Given the description of an element on the screen output the (x, y) to click on. 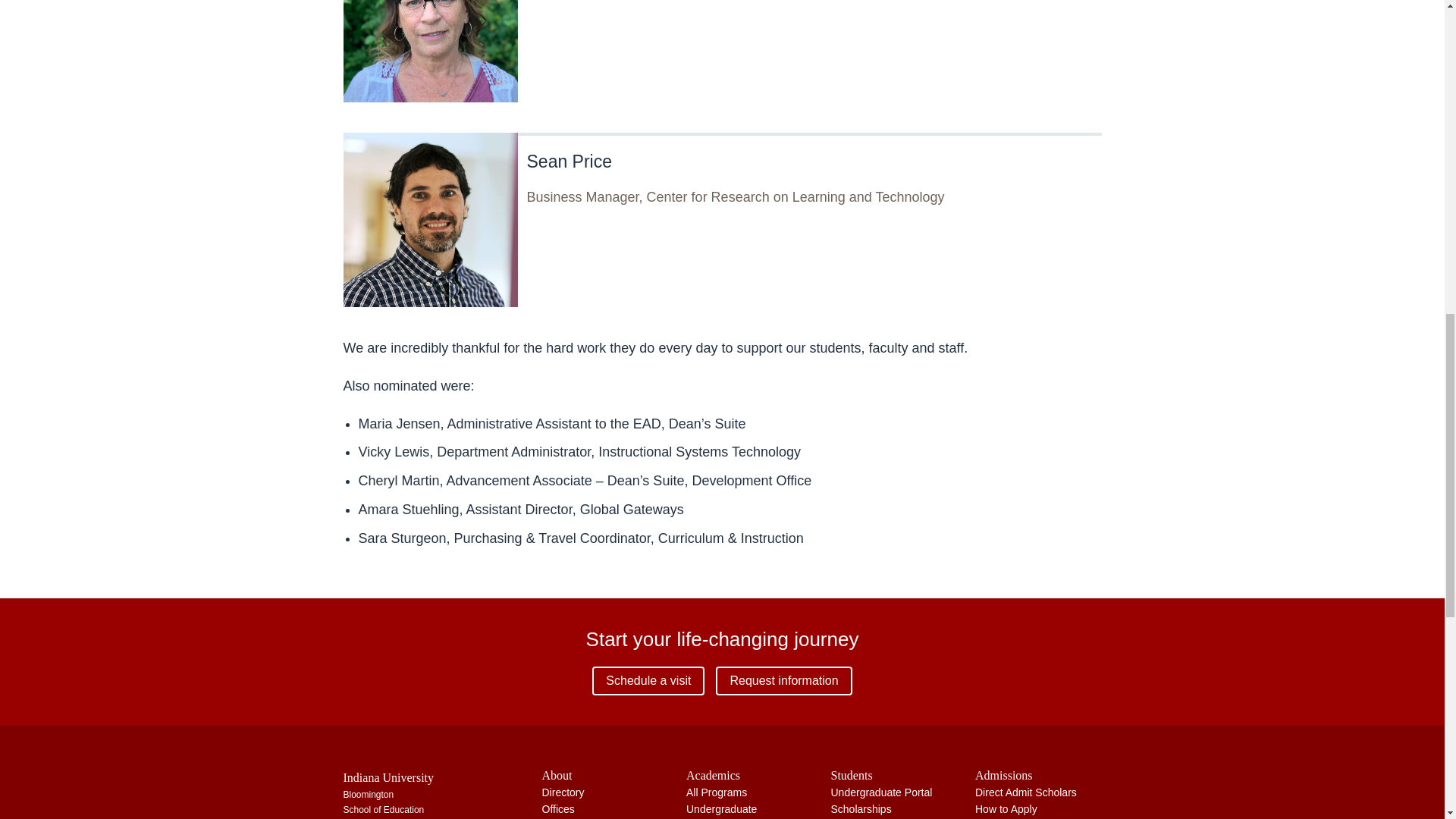
Offices (557, 808)
Schedule a campus visit (648, 680)
Request information (783, 680)
About (604, 775)
Directory (562, 792)
